Given the description of an element on the screen output the (x, y) to click on. 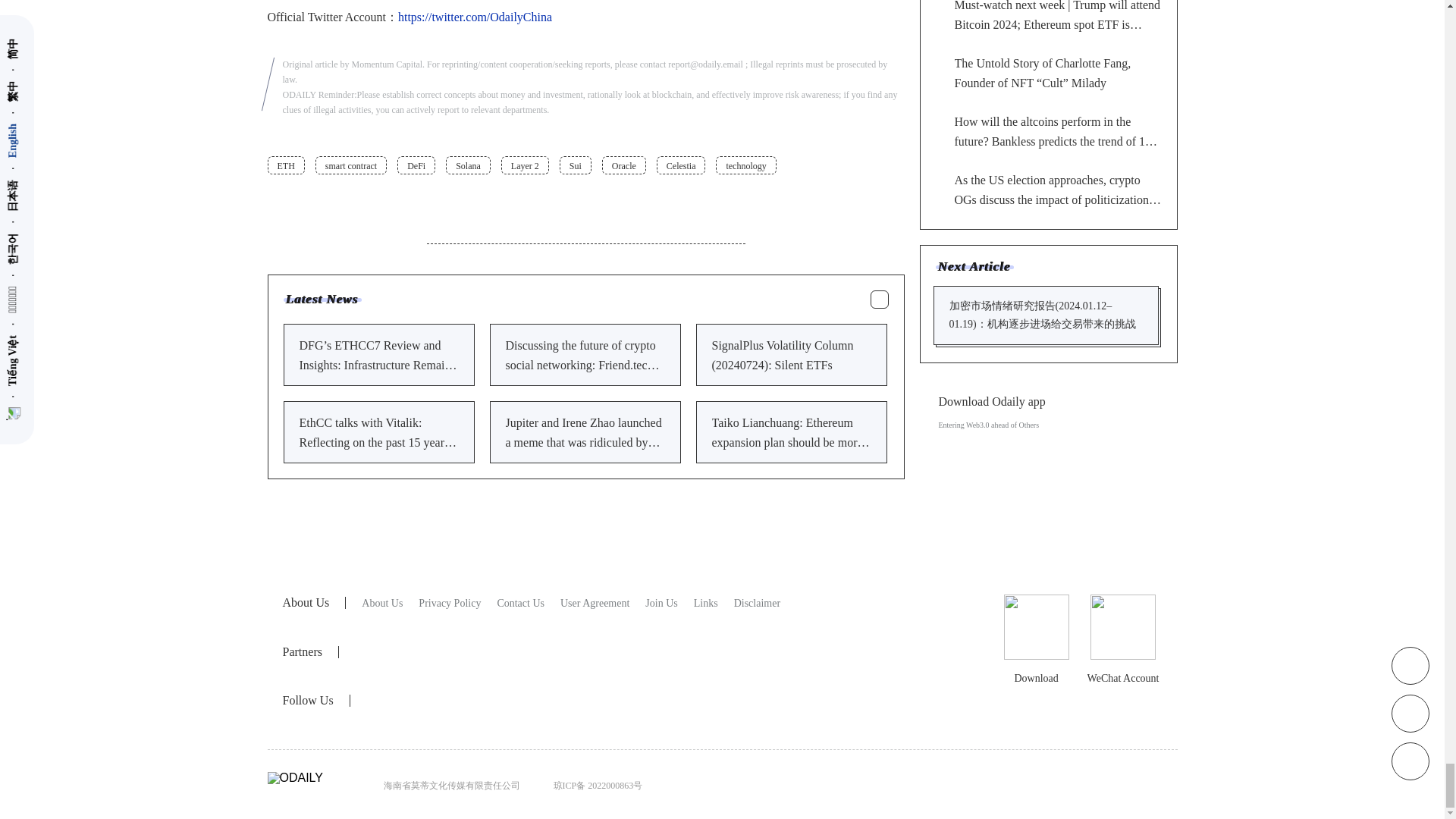
Oracle (624, 165)
Layer 2 (524, 165)
Odaily (424, 650)
technology (746, 165)
Solana (467, 165)
Celestia (681, 165)
smart contract (351, 165)
Odaily (520, 603)
Share to Twitter (854, 200)
Odaily (368, 650)
ETH (285, 165)
Odaily (514, 650)
Odaily (449, 603)
Odaily (382, 603)
Odaily (661, 603)
